Given the description of an element on the screen output the (x, y) to click on. 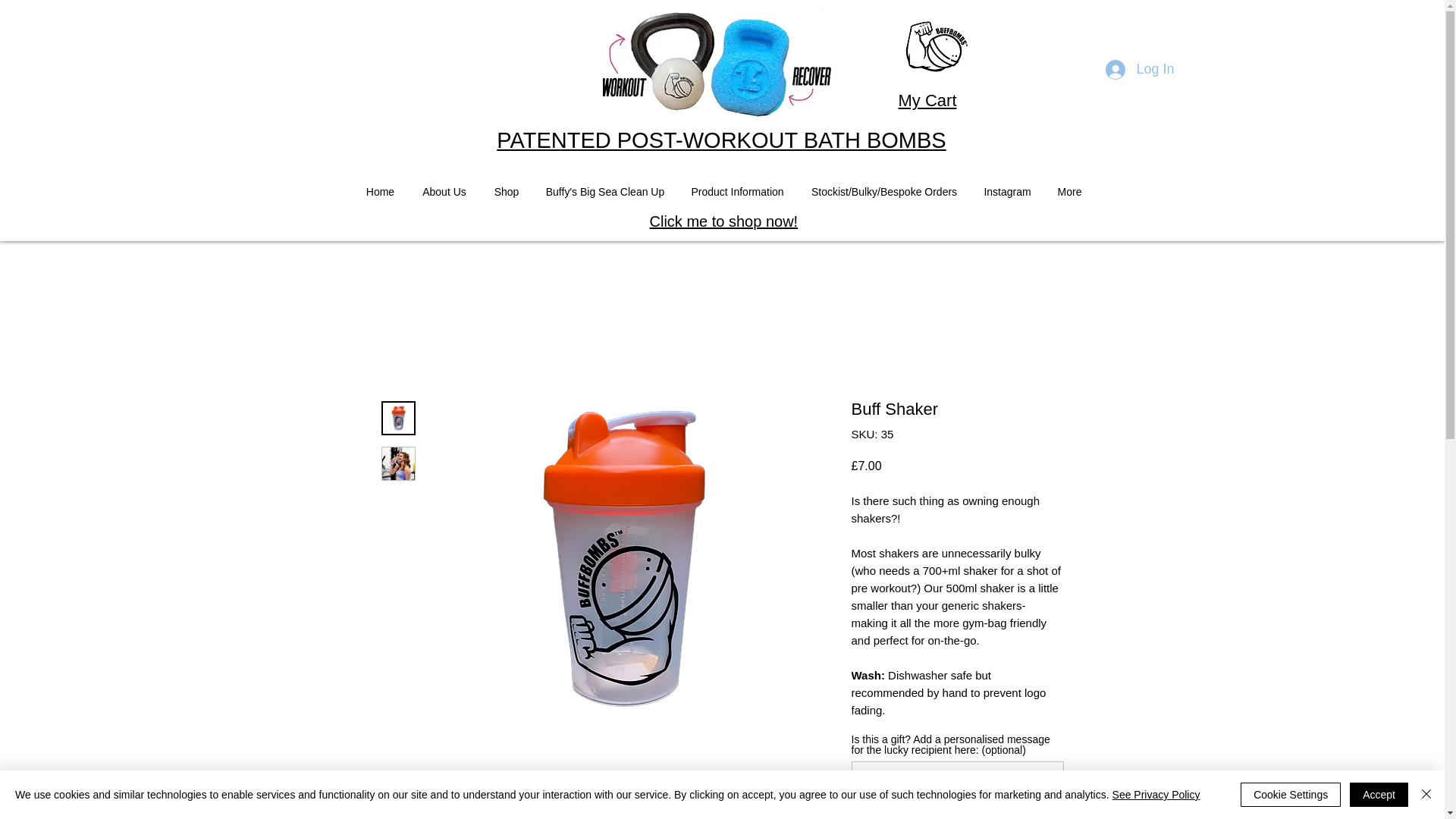
Product Information (737, 192)
Click me to shop now! (723, 221)
Buffy's Big Sea Clean Up (604, 192)
See Privacy Policy (1155, 794)
About Us (443, 192)
Accept (1378, 794)
Instagram (1007, 192)
My Cart (927, 99)
PATENTED POST-WORKOUT BATH BOMBS (720, 139)
Log In (1139, 69)
